Given the description of an element on the screen output the (x, y) to click on. 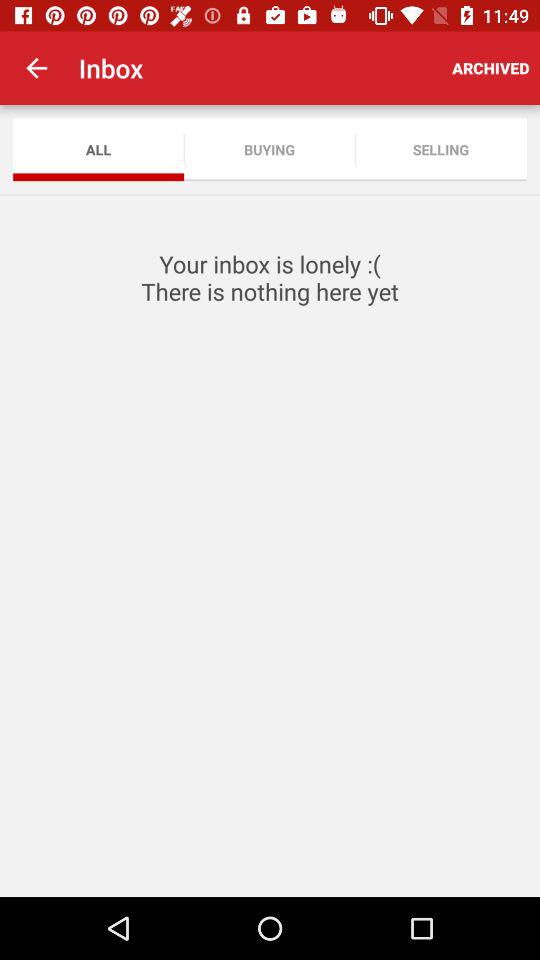
press the app next to buying (98, 149)
